Given the description of an element on the screen output the (x, y) to click on. 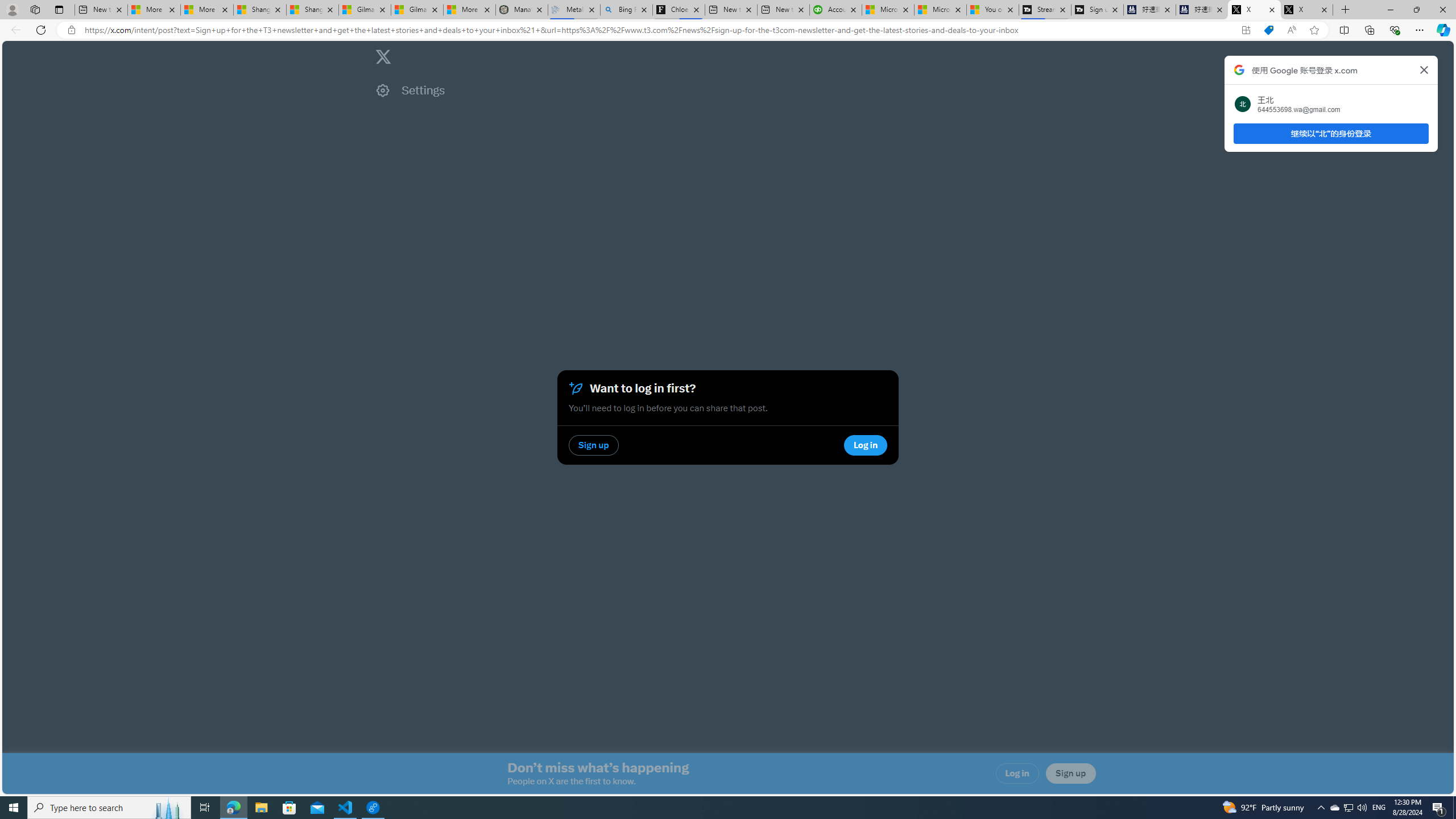
Sign up (1070, 773)
